Given the description of an element on the screen output the (x, y) to click on. 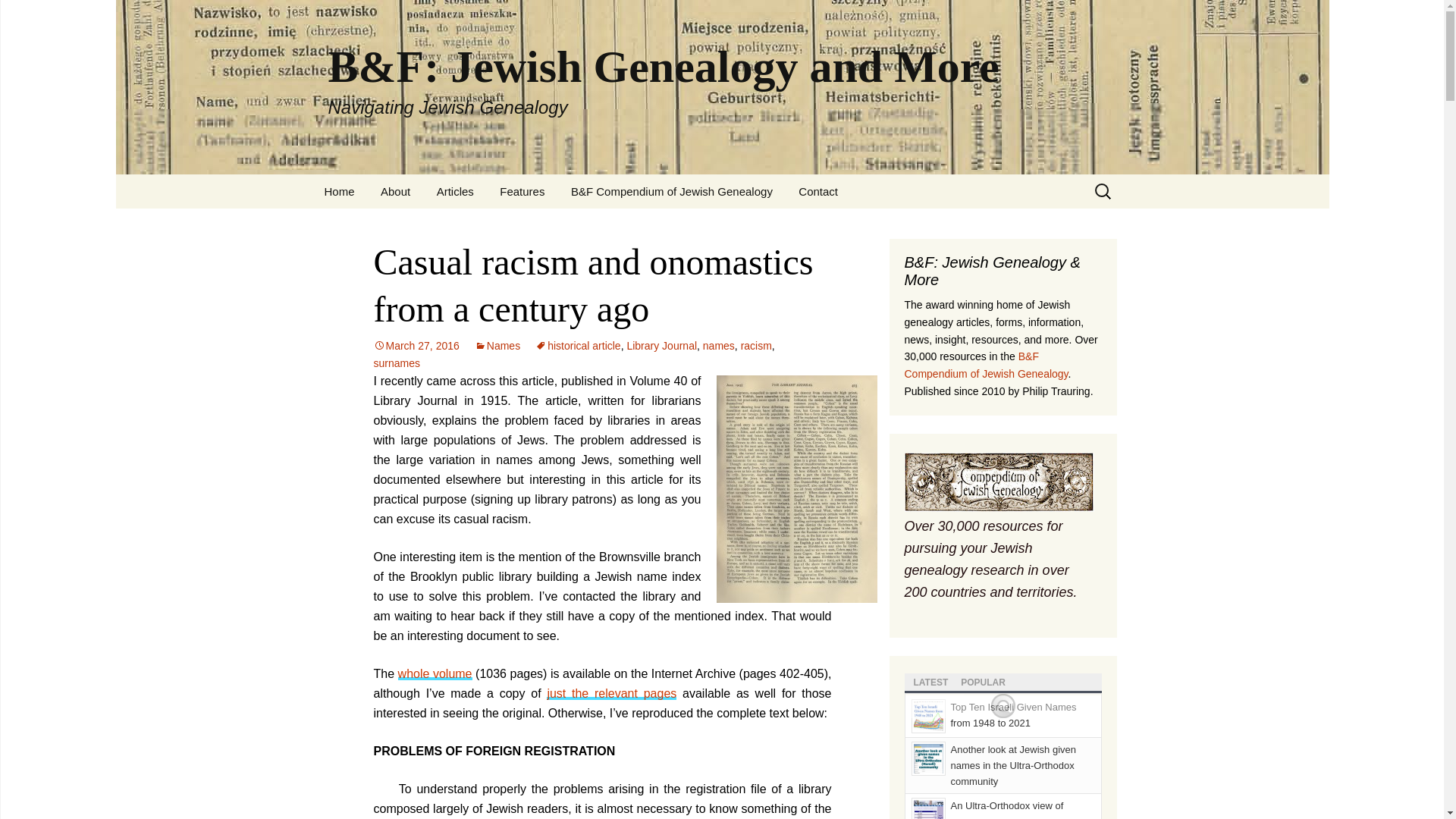
names (719, 345)
whole volume (434, 673)
Library Journal (661, 345)
historical article (577, 345)
surnames (395, 363)
Permalink to Casual racism and onomastics from a century ago (415, 345)
Search (18, 15)
About (395, 191)
Contact (817, 191)
Forms (563, 225)
Articles (454, 191)
Features (521, 191)
Names (496, 345)
